Given the description of an element on the screen output the (x, y) to click on. 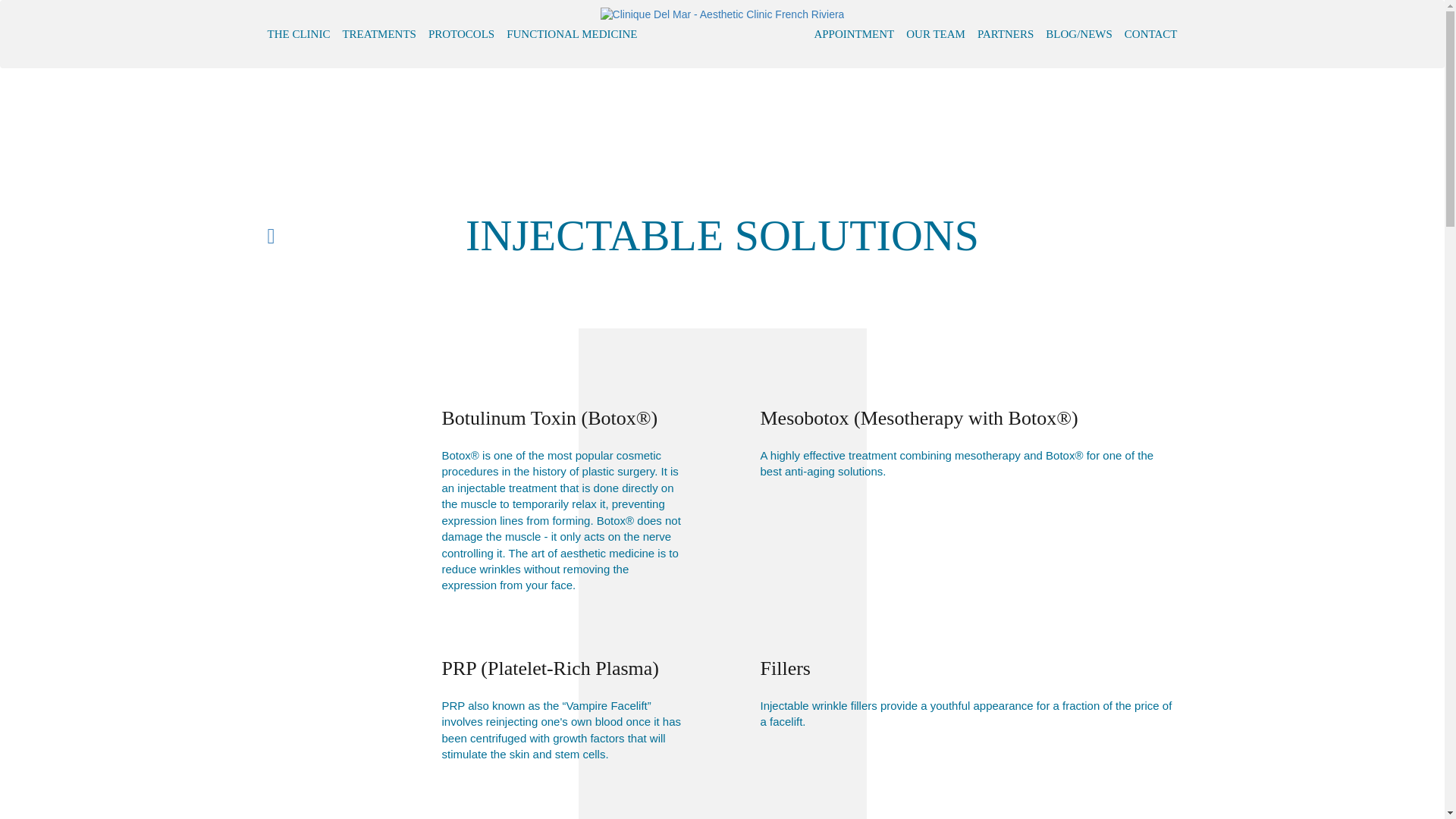
OUR TEAM (935, 34)
THE CLINIC (301, 34)
PROTOCOLS (461, 34)
TREATMENTS (379, 34)
CONTACT (1147, 34)
PARTNERS (1005, 34)
FUNCTIONAL MEDICINE (571, 34)
APPOINTMENT (853, 34)
